Given the description of an element on the screen output the (x, y) to click on. 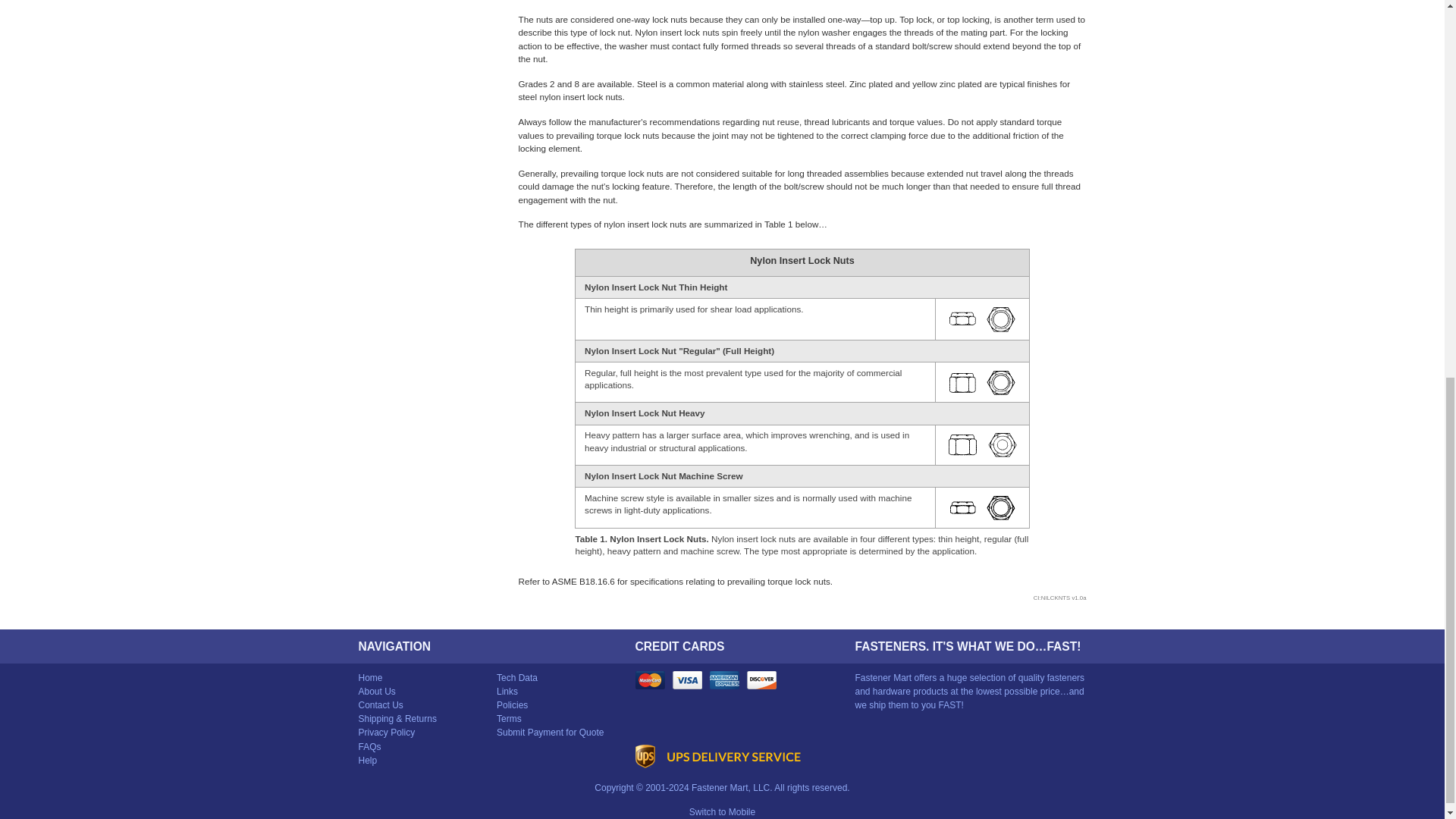
Nylon Insert Lock Nut Thin (980, 318)
Nylon Insert Lock Nut Machine Screw (981, 507)
Nylon Insert Lock Nut Heavy (982, 444)
Nylon Insert Lock Nut (980, 382)
